Given the description of an element on the screen output the (x, y) to click on. 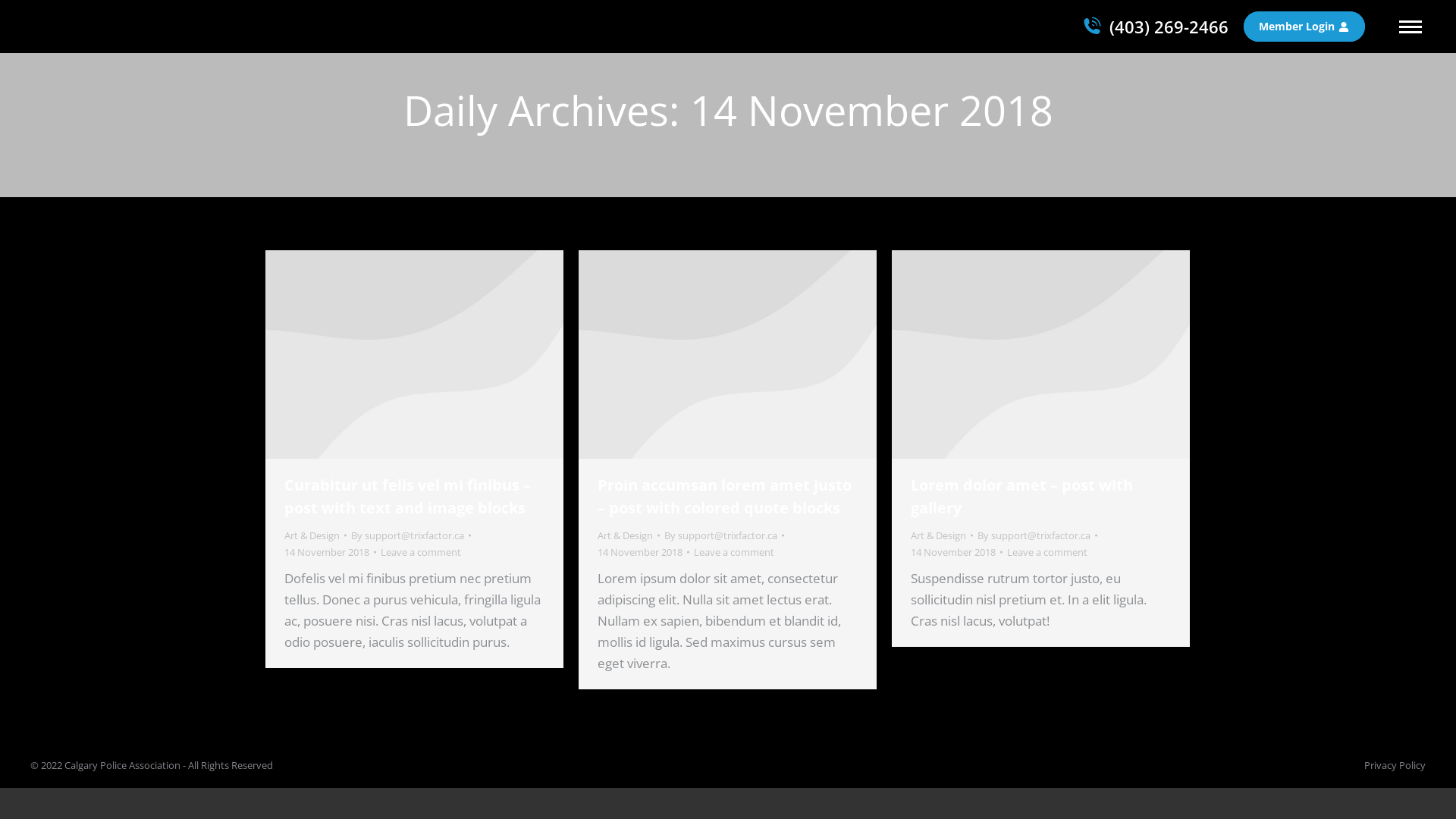
By support@trixfactor.ca Element type: text (724, 535)
Privacy Policy Element type: text (1394, 764)
By support@trixfactor.ca Element type: text (1037, 535)
Art & Design Element type: text (624, 535)
Leave a comment Element type: text (733, 551)
By support@trixfactor.ca Element type: text (410, 535)
Leave a comment Element type: text (420, 551)
Member Login Element type: text (1304, 26)
14 November 2018 Element type: text (330, 551)
14 November 2018 Element type: text (956, 551)
Art & Design Element type: text (311, 535)
14 November 2018 Element type: text (643, 551)
Leave a comment Element type: text (1047, 551)
Art & Design Element type: text (938, 535)
